Given the description of an element on the screen output the (x, y) to click on. 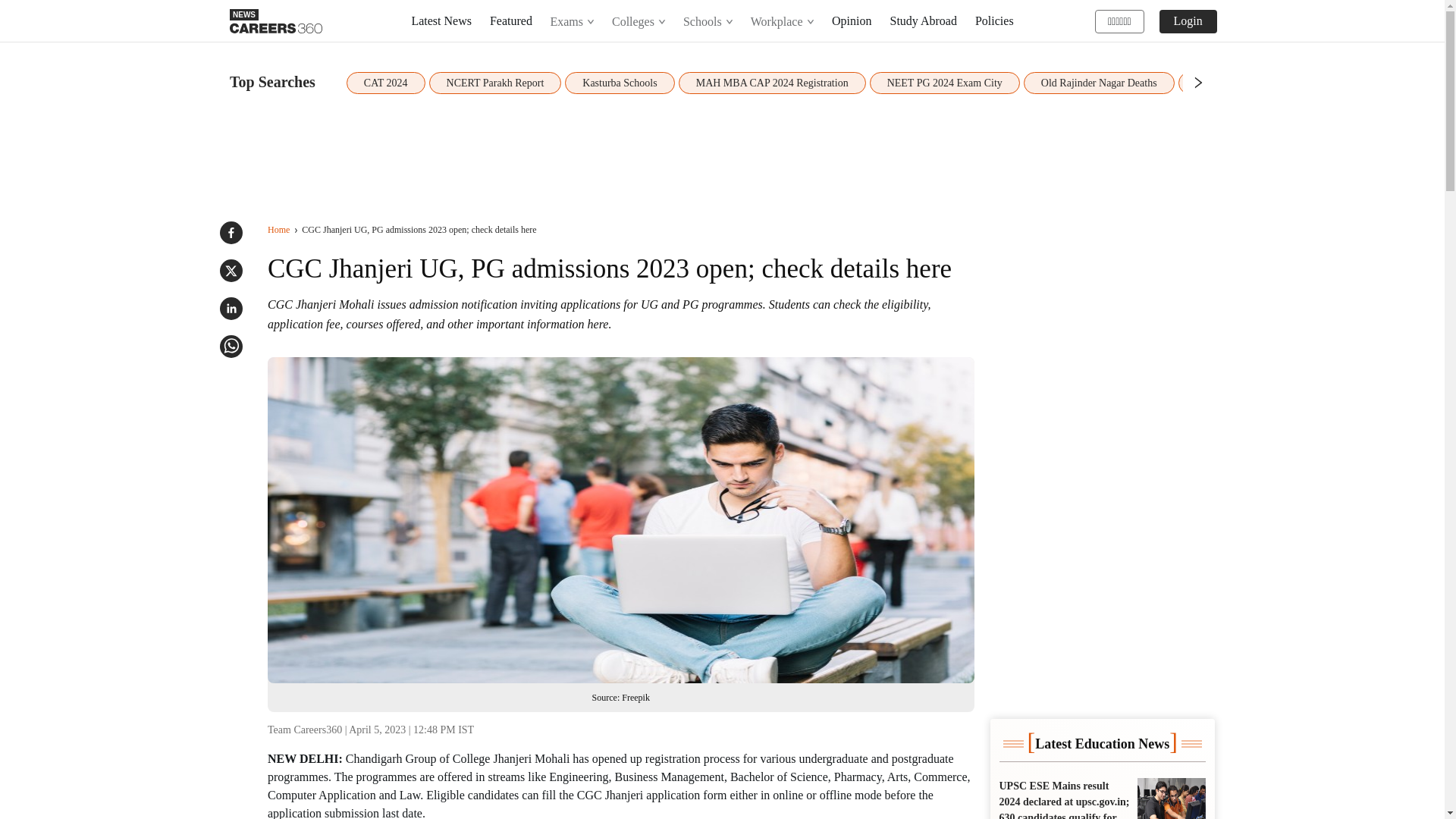
Workplace (781, 20)
Exams (572, 21)
Kasturba Schools (619, 83)
Featured (510, 20)
Opinion (850, 20)
Workplace (782, 21)
Colleges (638, 21)
Latest News (440, 20)
Exams (572, 20)
Colleges (638, 20)
Schools (707, 20)
Study Abroad (922, 20)
Schools (707, 21)
Login (1187, 20)
NCERT Parakh Report (495, 83)
